Given the description of an element on the screen output the (x, y) to click on. 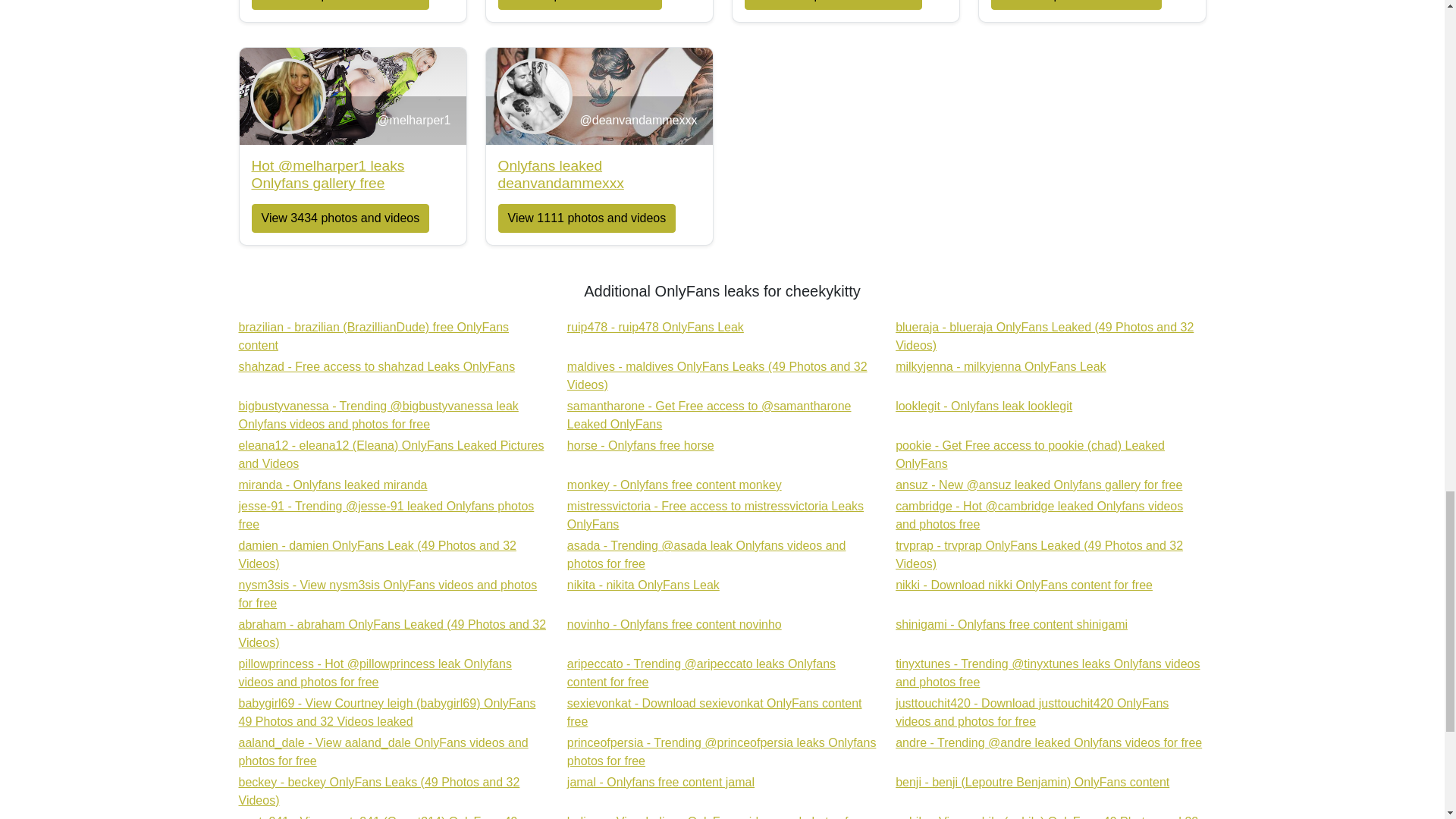
shahzad - Free access to shahzad Leaks OnlyFans (332, 484)
milkyjenna - milkyjenna OnlyFans Leak (715, 514)
